Given the description of an element on the screen output the (x, y) to click on. 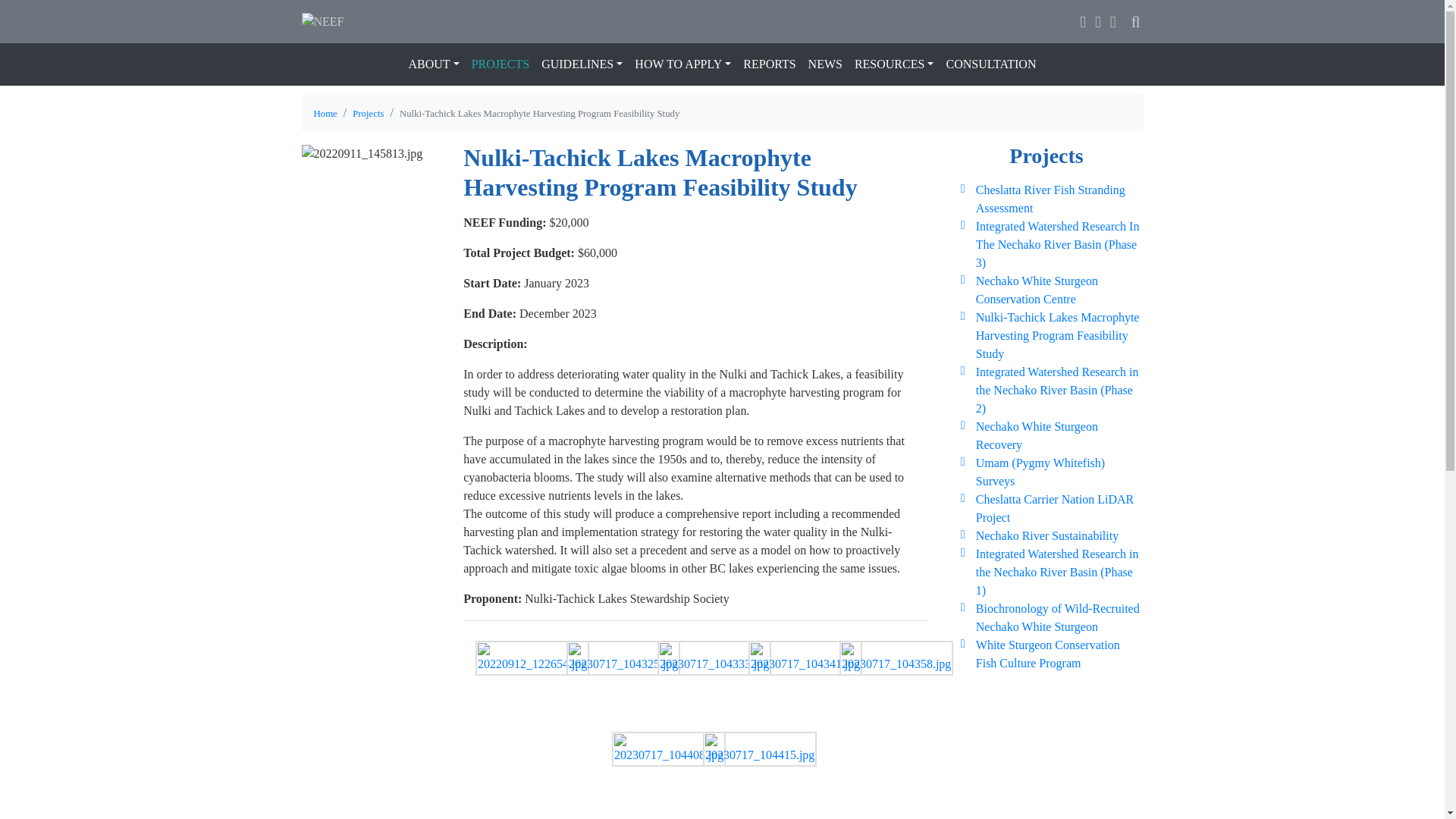
GUIDELINES (581, 64)
NEWS (825, 64)
ABOUT (434, 64)
Nechako White Sturgeon Conservation Centre (1036, 289)
Home (325, 113)
HOW TO APPLY (682, 64)
Projects (368, 113)
Cheslatta River Fish Stranding Assessment (1050, 198)
PROJECTS (500, 64)
